Given the description of an element on the screen output the (x, y) to click on. 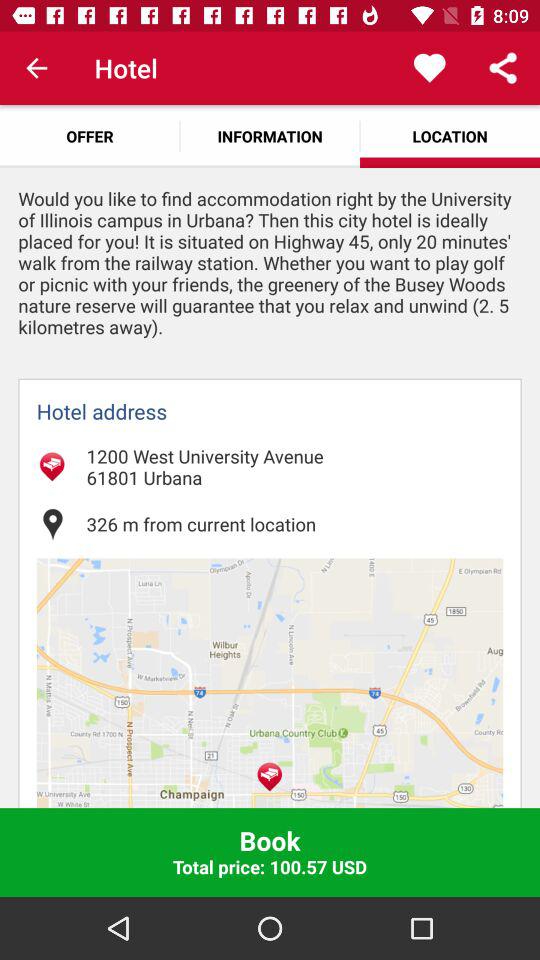
click the icon above the would you like (90, 136)
